Given the description of an element on the screen output the (x, y) to click on. 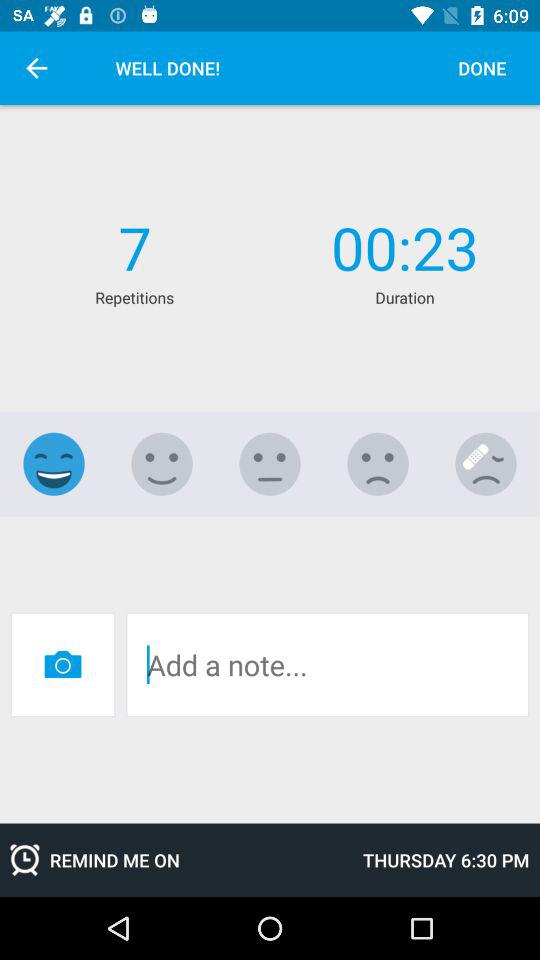
jump to thursday 6 30 item (446, 859)
